Given the description of an element on the screen output the (x, y) to click on. 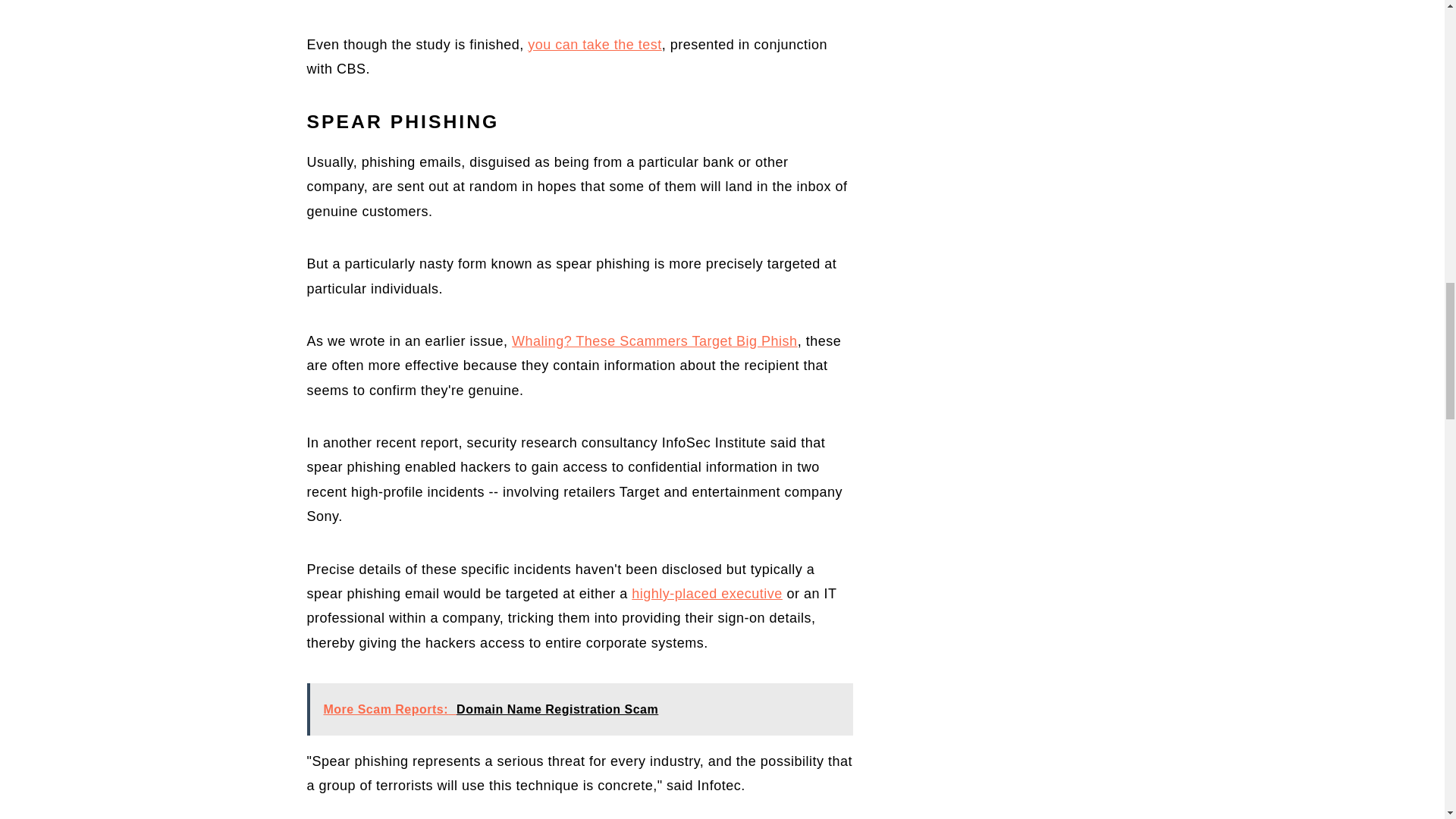
More Scam Reports:  Domain Name Registration Scam (578, 708)
you can take the test (594, 44)
Whaling? These Scammers Target Big Phish (654, 340)
highly-placed executive (707, 593)
